Given the description of an element on the screen output the (x, y) to click on. 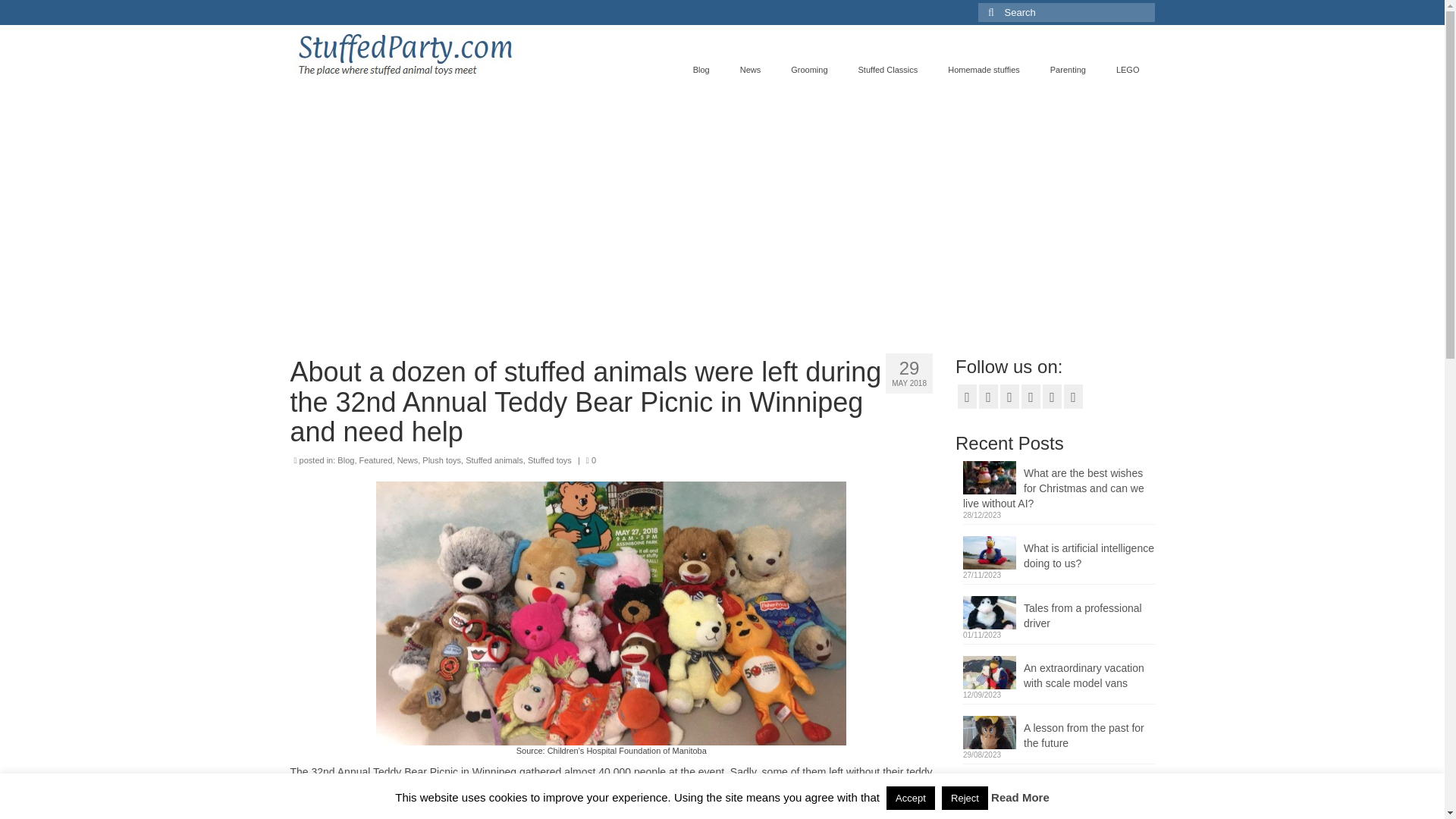
Grooming (809, 69)
Featured (376, 460)
Stuffed Classics (888, 69)
News (408, 460)
Plush toys (441, 460)
Homemade stuffies (984, 69)
LEGO (1127, 69)
Blog (701, 69)
Blog (345, 460)
